Given the description of an element on the screen output the (x, y) to click on. 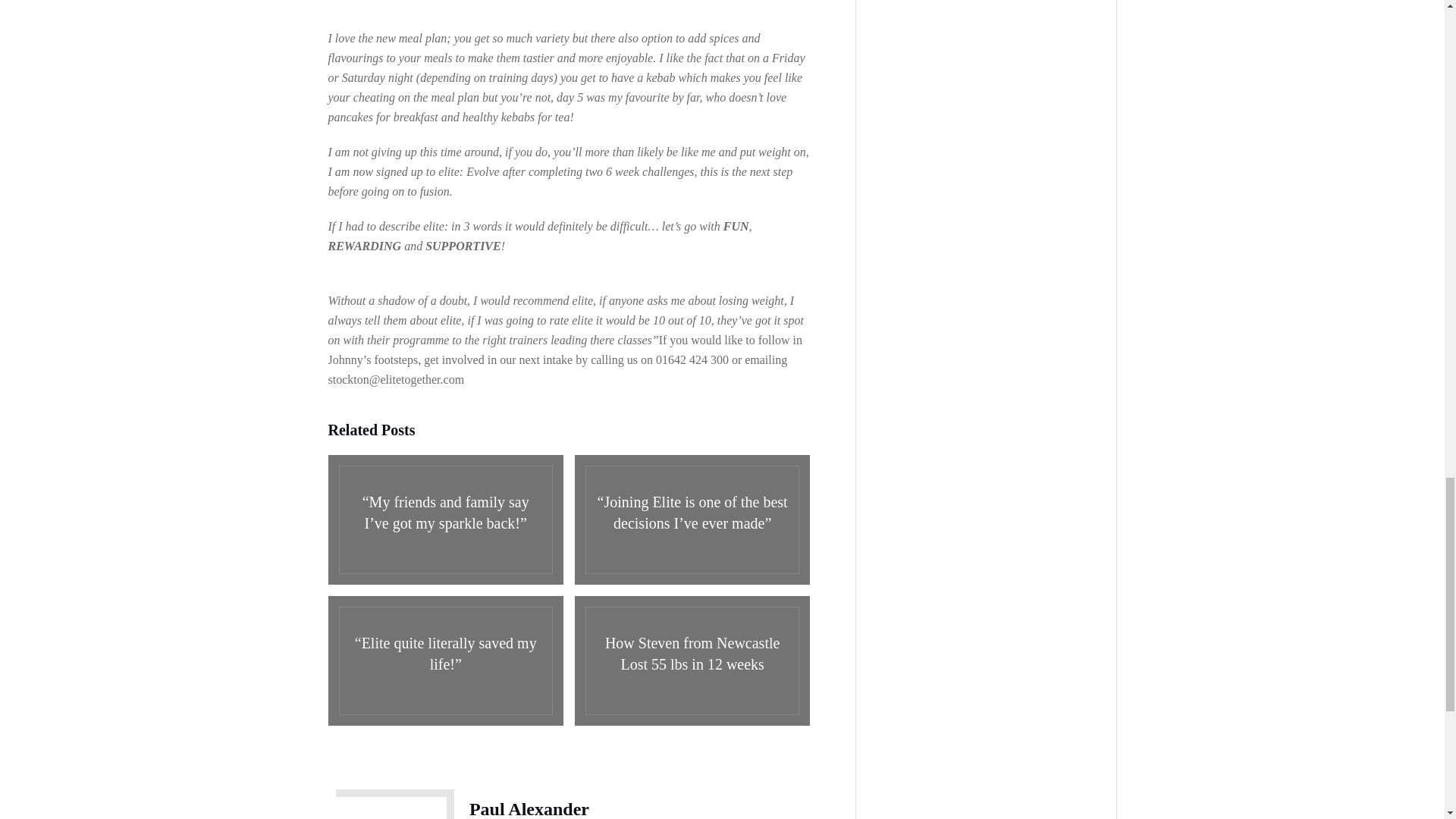
How Steven from Newcastle Lost 55 lbs in 12 weeks (692, 660)
